Given the description of an element on the screen output the (x, y) to click on. 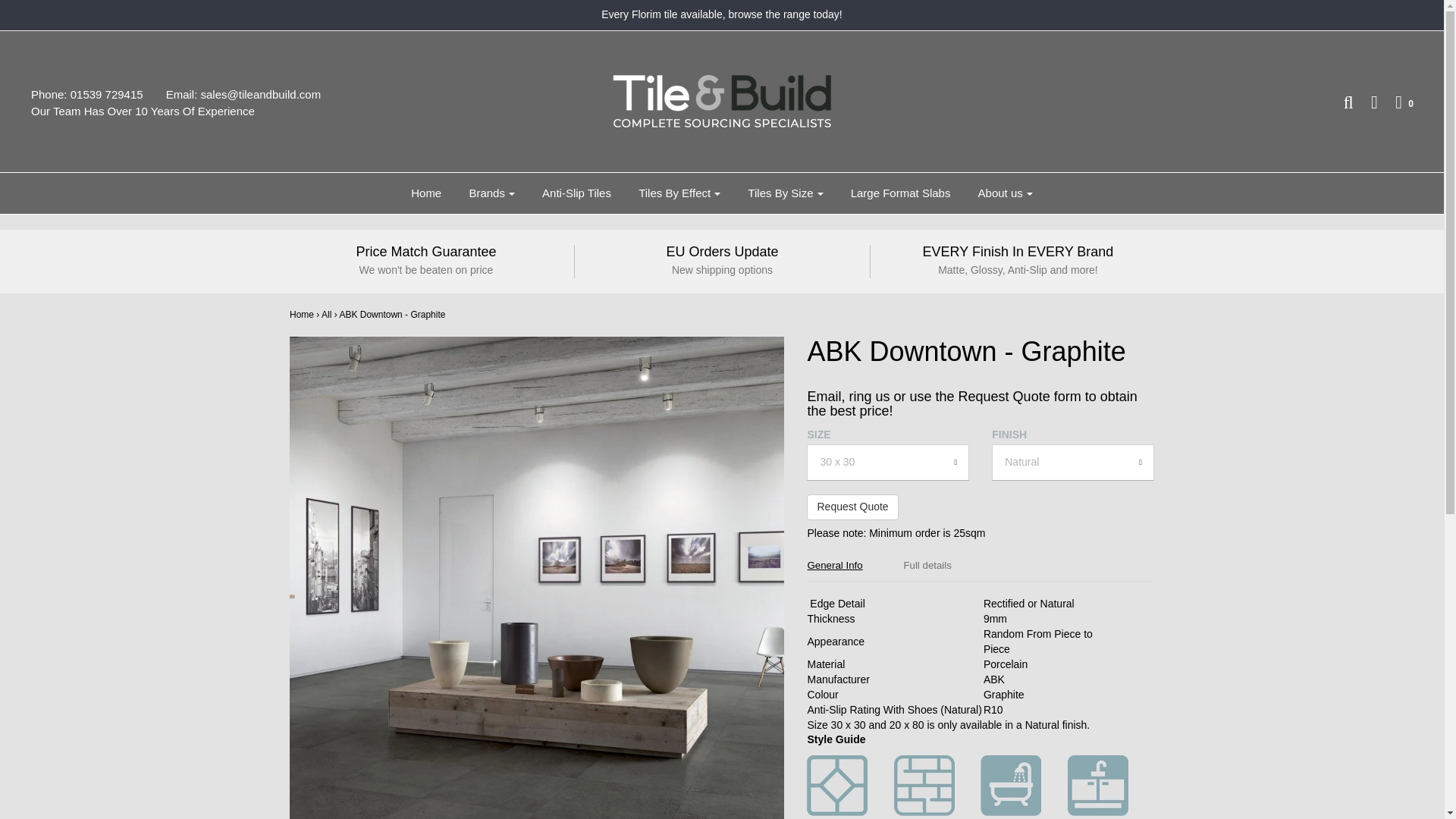
Natural (1072, 462)
Tiles By Size (785, 193)
Anti-Slip Tiles (577, 193)
0 (1396, 102)
30 x 30 (887, 462)
Phone: 01539 729415 (97, 94)
Our Team Has Over 10 Years Of Experience (154, 111)
Tiles By Effect (679, 193)
Brands (491, 193)
Log in (1366, 102)
Your Cart (1396, 102)
Search (1339, 102)
Home (425, 193)
